Given the description of an element on the screen output the (x, y) to click on. 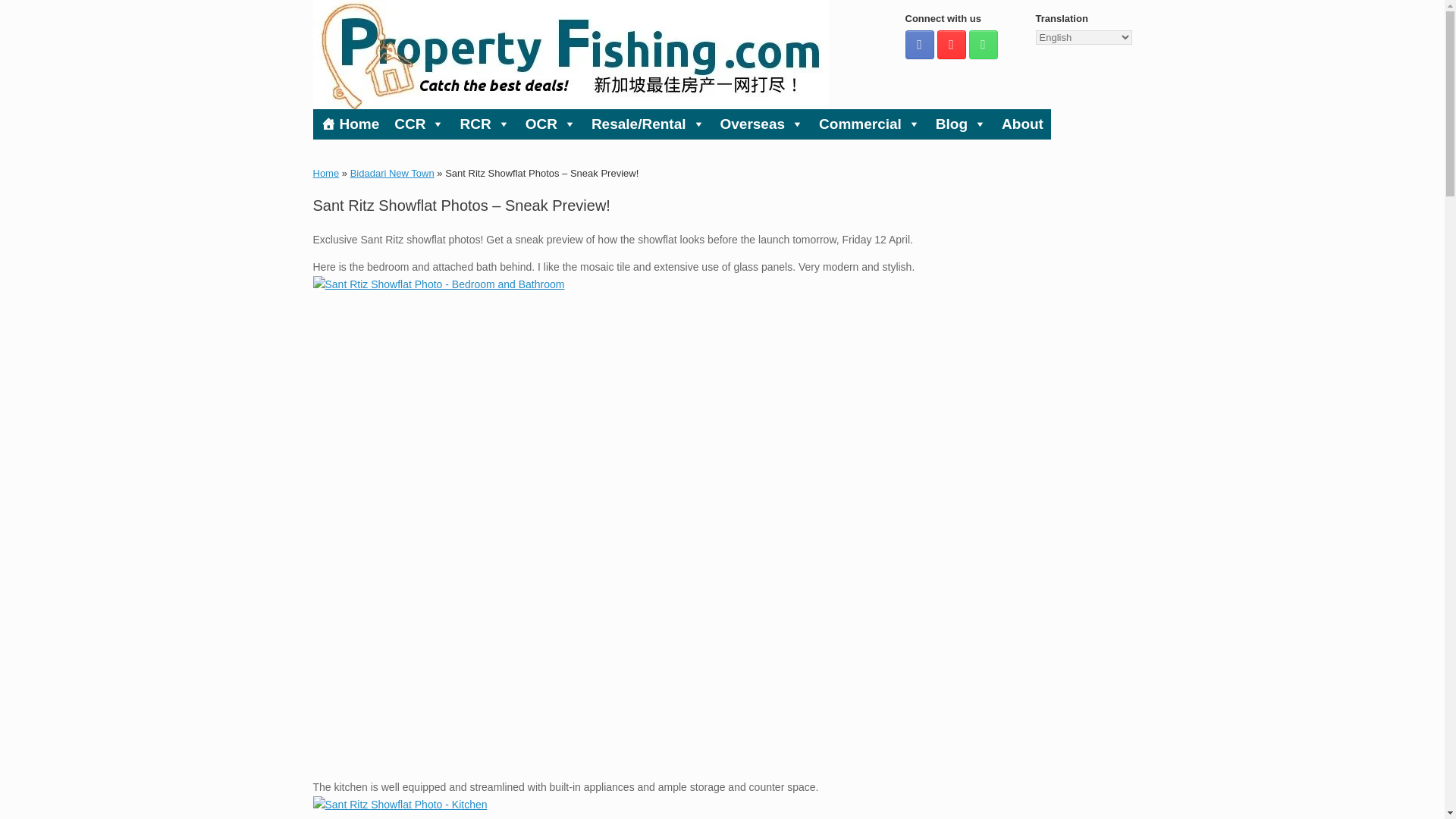
Property Fishing (570, 54)
CCR (419, 123)
Home (350, 123)
RCR (483, 123)
Property Fishing Facebook (919, 44)
Property Fishing Phone (983, 44)
Property Fishing YouTube (951, 44)
